Given the description of an element on the screen output the (x, y) to click on. 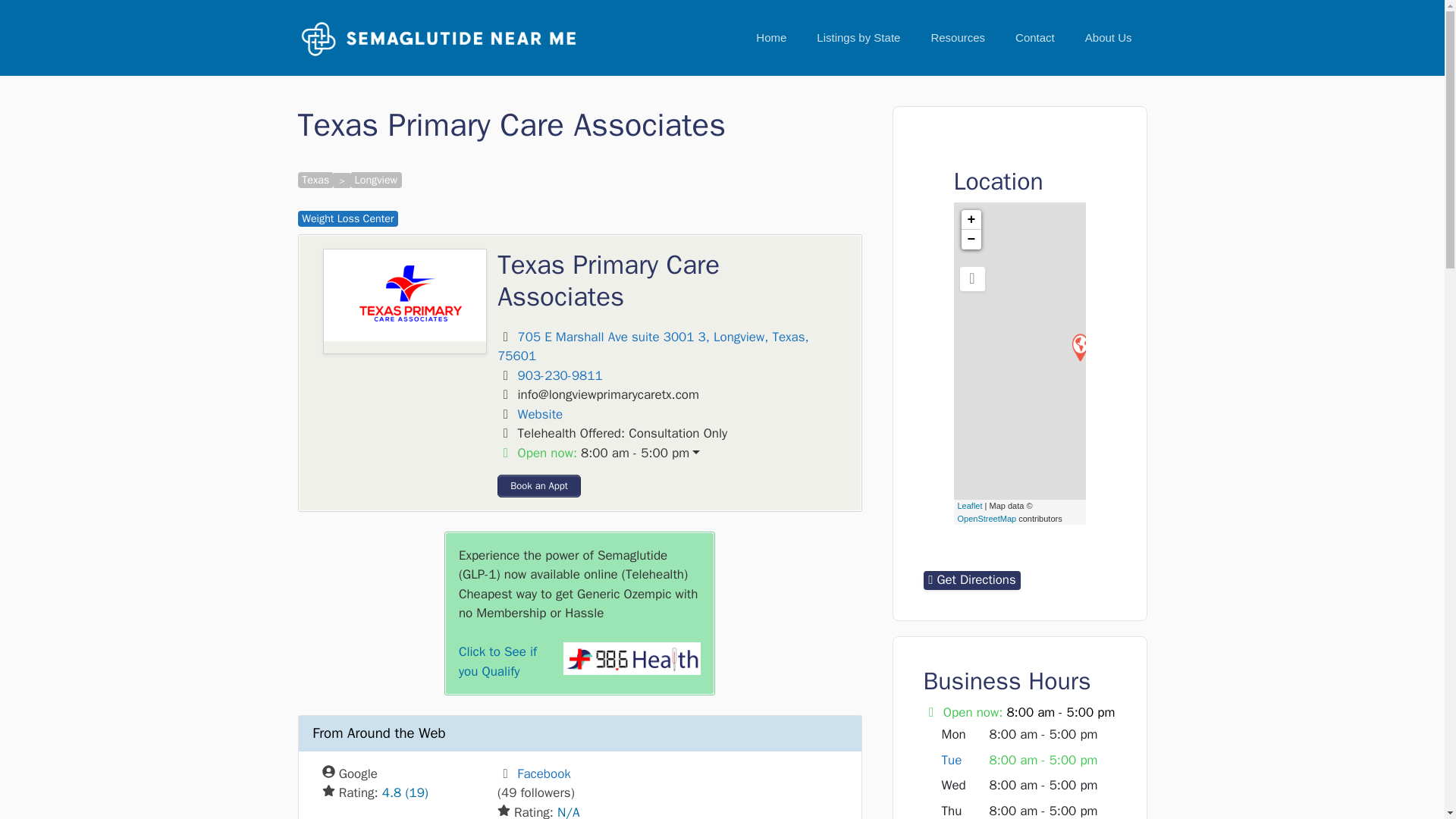
Website (540, 414)
Facebook (543, 773)
Longview (375, 179)
View on map (653, 346)
Listings by State (858, 37)
Weight Loss Center (347, 218)
Resources (957, 37)
903-230-9811 (560, 375)
Home (771, 37)
Expand opening hours (634, 453)
Contact (1035, 37)
Open now: 8:00 am - 5:00 pm (672, 453)
Click to See if you Qualify (497, 661)
Book an Appt (538, 486)
705 E Marshall Ave suite 3001 3, Longview, Texas, 75601 (653, 346)
